Given the description of an element on the screen output the (x, y) to click on. 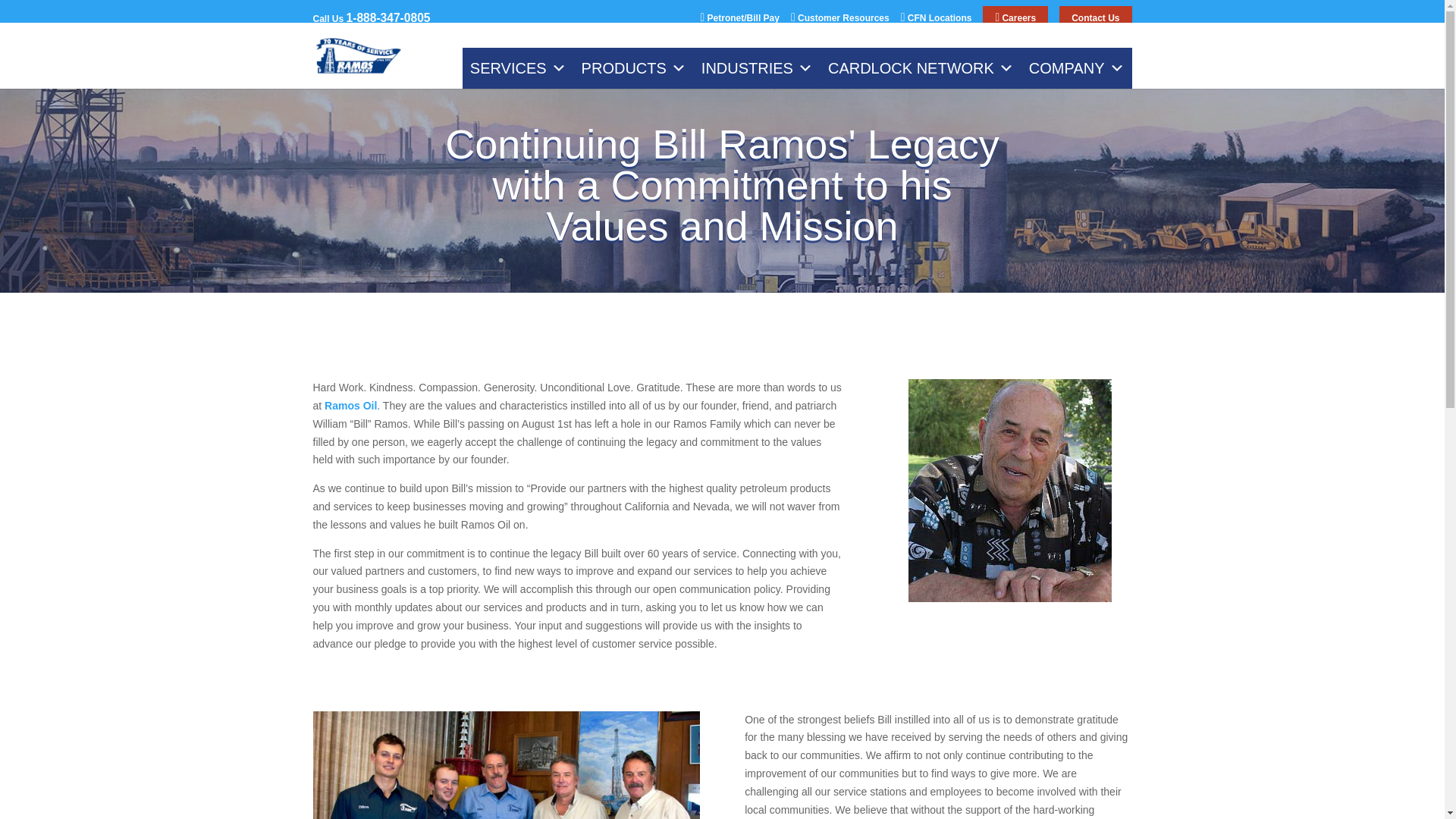
Customer Resources (839, 20)
Careers (1015, 17)
SERVICES (518, 67)
CFN Locations (936, 20)
Contact Us (1095, 17)
Call Us 1-888-347-0805 (500, 21)
PRODUCTS (633, 67)
INDUSTRIES (757, 67)
